Given the description of an element on the screen output the (x, y) to click on. 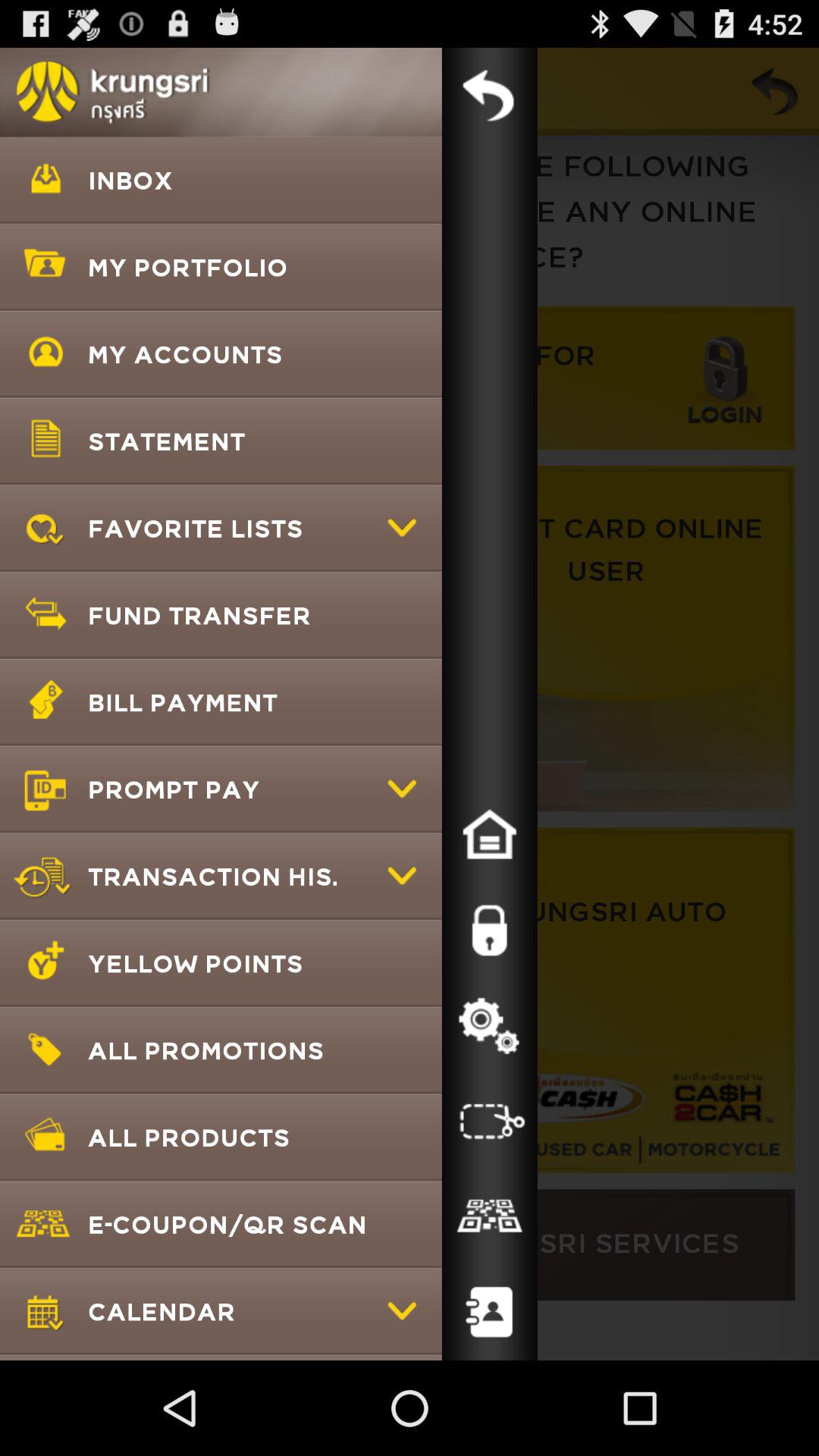
security options (489, 930)
